Given the description of an element on the screen output the (x, y) to click on. 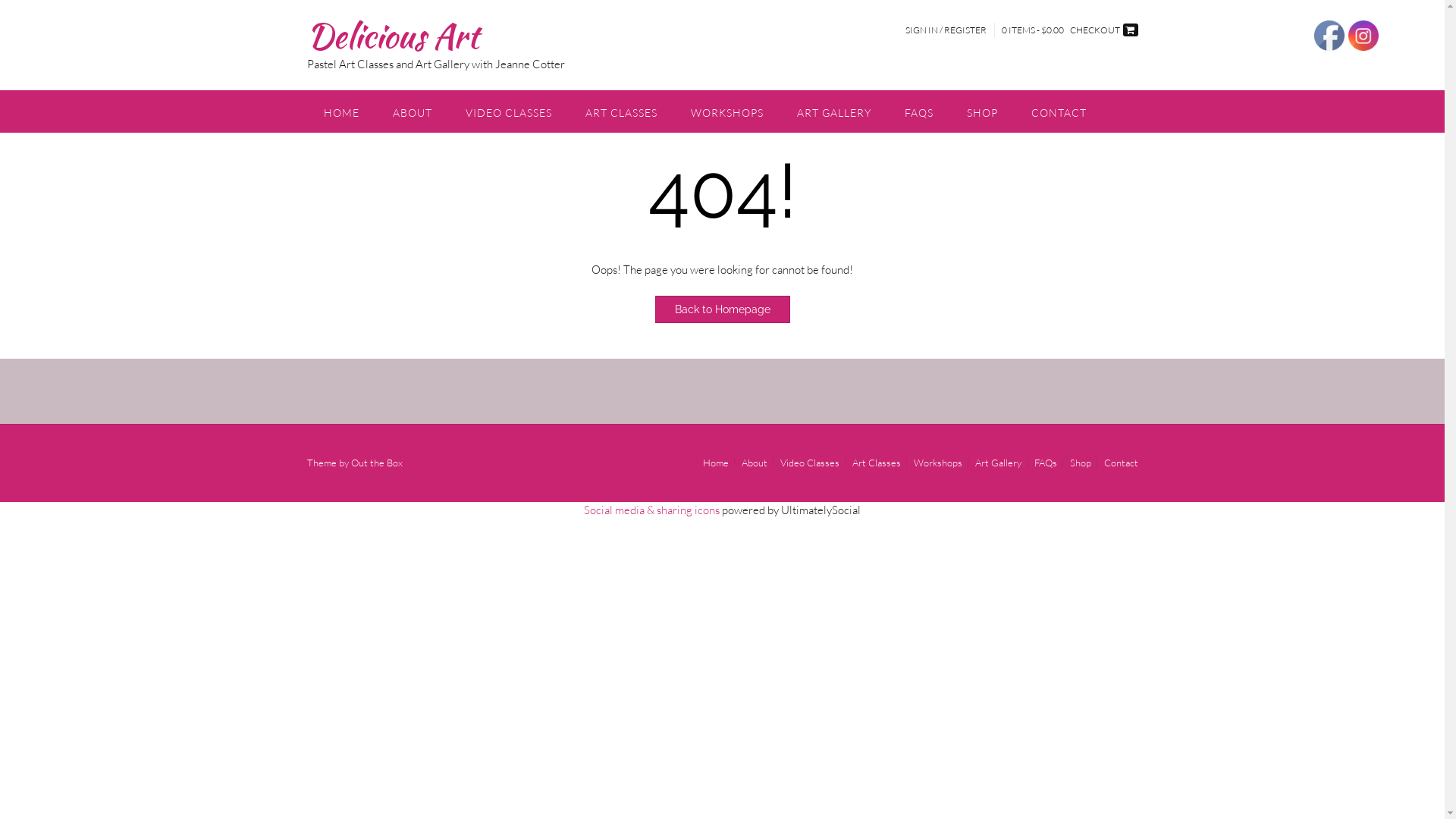
Workshops Element type: text (937, 462)
Shop Element type: text (1080, 462)
ABOUT Element type: text (412, 111)
Art Gallery Element type: text (997, 462)
Back to Homepage Element type: text (722, 309)
About Element type: text (753, 462)
Art Classes Element type: text (875, 462)
WORKSHOPS Element type: text (726, 111)
FAQS Element type: text (918, 111)
Instagram Element type: hover (1363, 35)
SHOP Element type: text (981, 111)
Home Element type: text (715, 462)
HOME Element type: text (340, 111)
ART CLASSES Element type: text (621, 111)
CONTACT Element type: text (1058, 111)
0 ITEMS - $0.00 CHECKOUT Element type: text (1069, 29)
Delicious Art Element type: text (391, 35)
ART GALLERY Element type: text (833, 111)
SIGN IN / REGISTER Element type: text (944, 29)
Social media & sharing icons Element type: text (652, 509)
VIDEO CLASSES Element type: text (508, 111)
Facebook Element type: hover (1328, 35)
Contact Element type: text (1117, 462)
Video Classes Element type: text (809, 462)
FAQs Element type: text (1044, 462)
Out the Box Element type: text (375, 462)
